Given the description of an element on the screen output the (x, y) to click on. 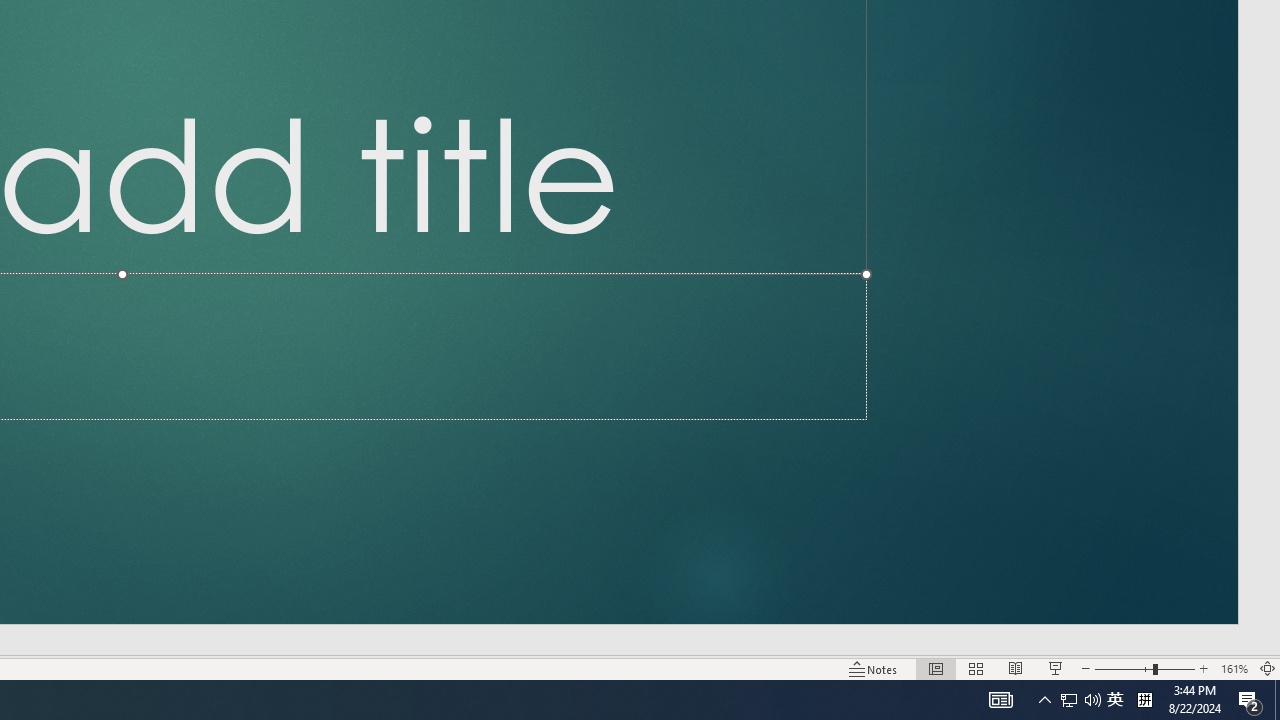
Zoom 161% (1234, 668)
